Given the description of an element on the screen output the (x, y) to click on. 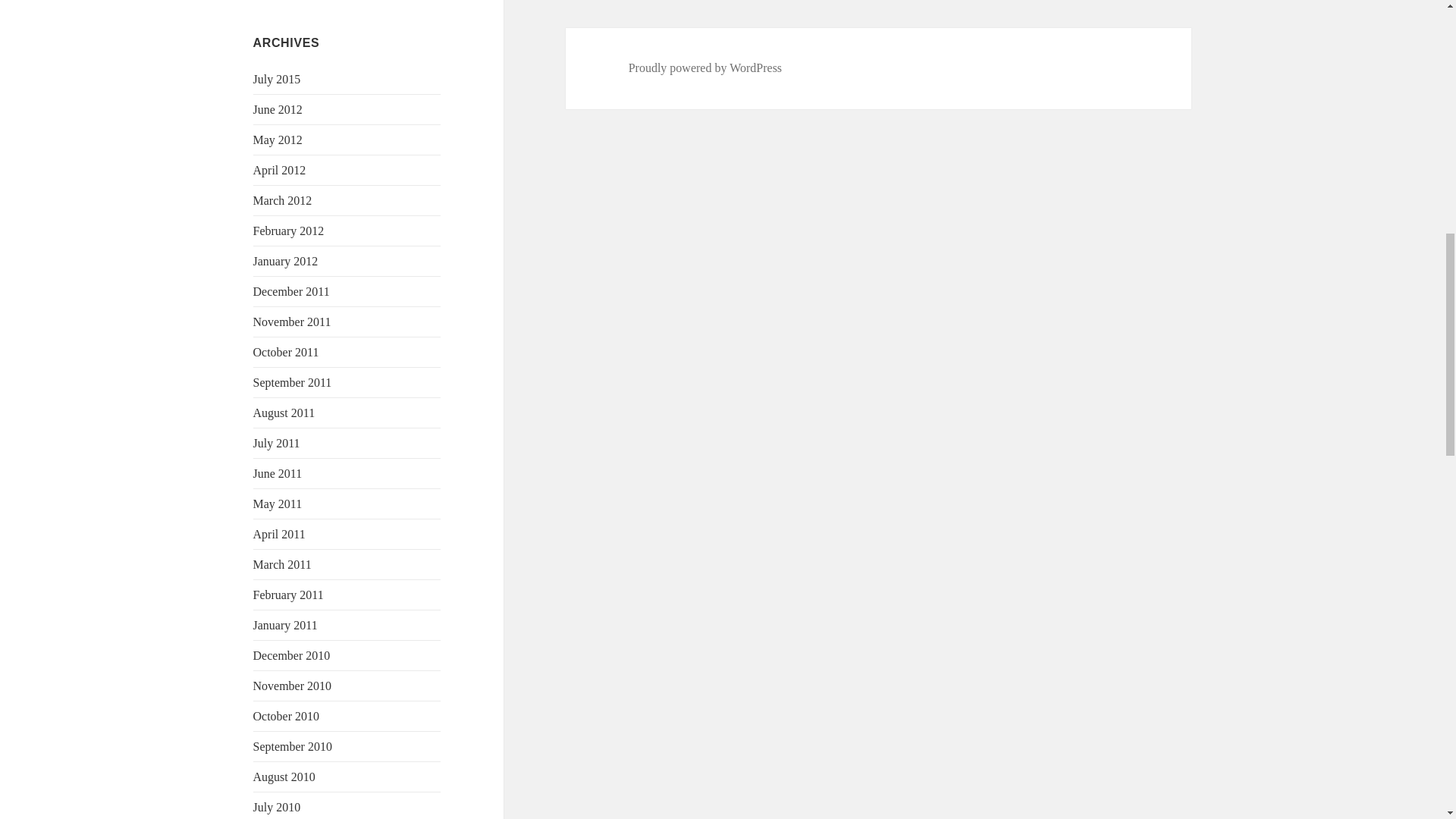
July 2015 (277, 78)
March 2012 (283, 200)
February 2012 (288, 230)
June 2012 (277, 109)
September 2010 (292, 746)
August 2010 (284, 776)
October 2011 (285, 351)
January 2011 (285, 625)
May 2011 (277, 503)
October 2010 (286, 716)
April 2012 (279, 169)
July 2011 (276, 442)
August 2011 (284, 412)
April 2011 (279, 533)
December 2011 (291, 291)
